Given the description of an element on the screen output the (x, y) to click on. 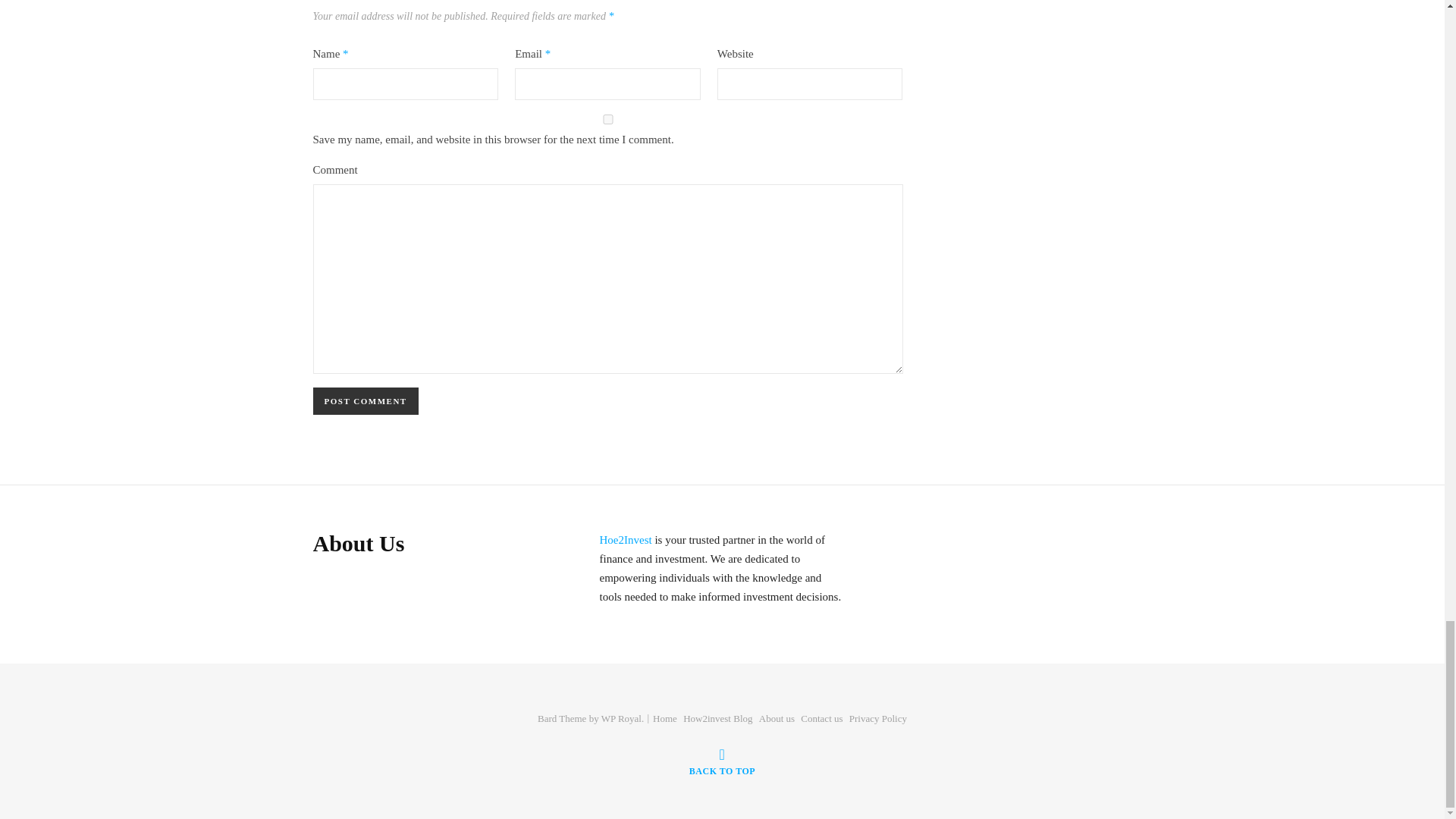
BACK TO TOP (722, 761)
Post Comment (365, 400)
yes (607, 119)
